Given the description of an element on the screen output the (x, y) to click on. 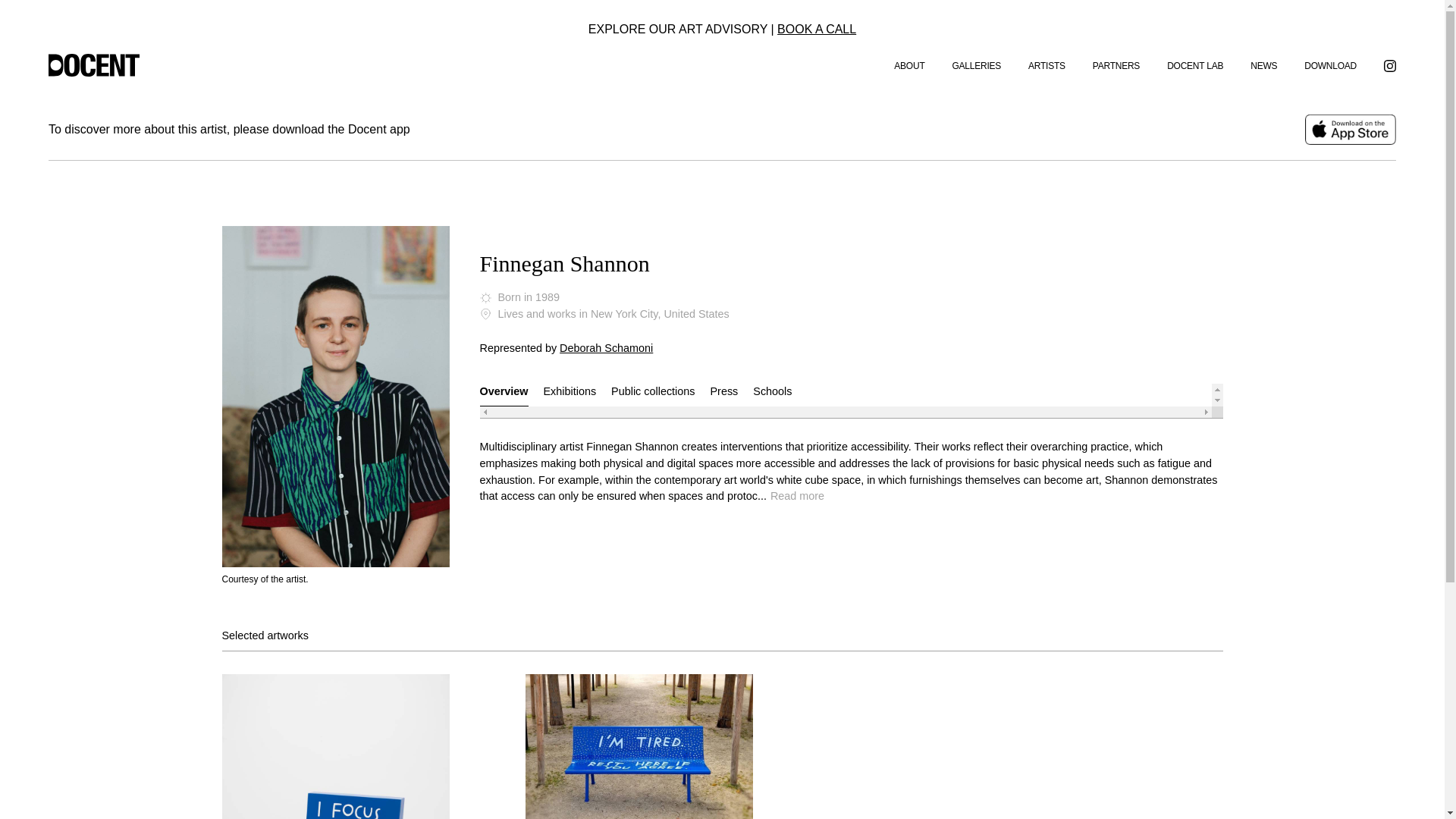
DOWNLOAD (1330, 65)
ARTISTS (1046, 65)
ABOUT (908, 65)
NEWS (1263, 65)
Deborah Schamoni (605, 347)
GALLERIES (976, 65)
DOCENT LAB (1195, 65)
PARTNERS (1116, 65)
